Given the description of an element on the screen output the (x, y) to click on. 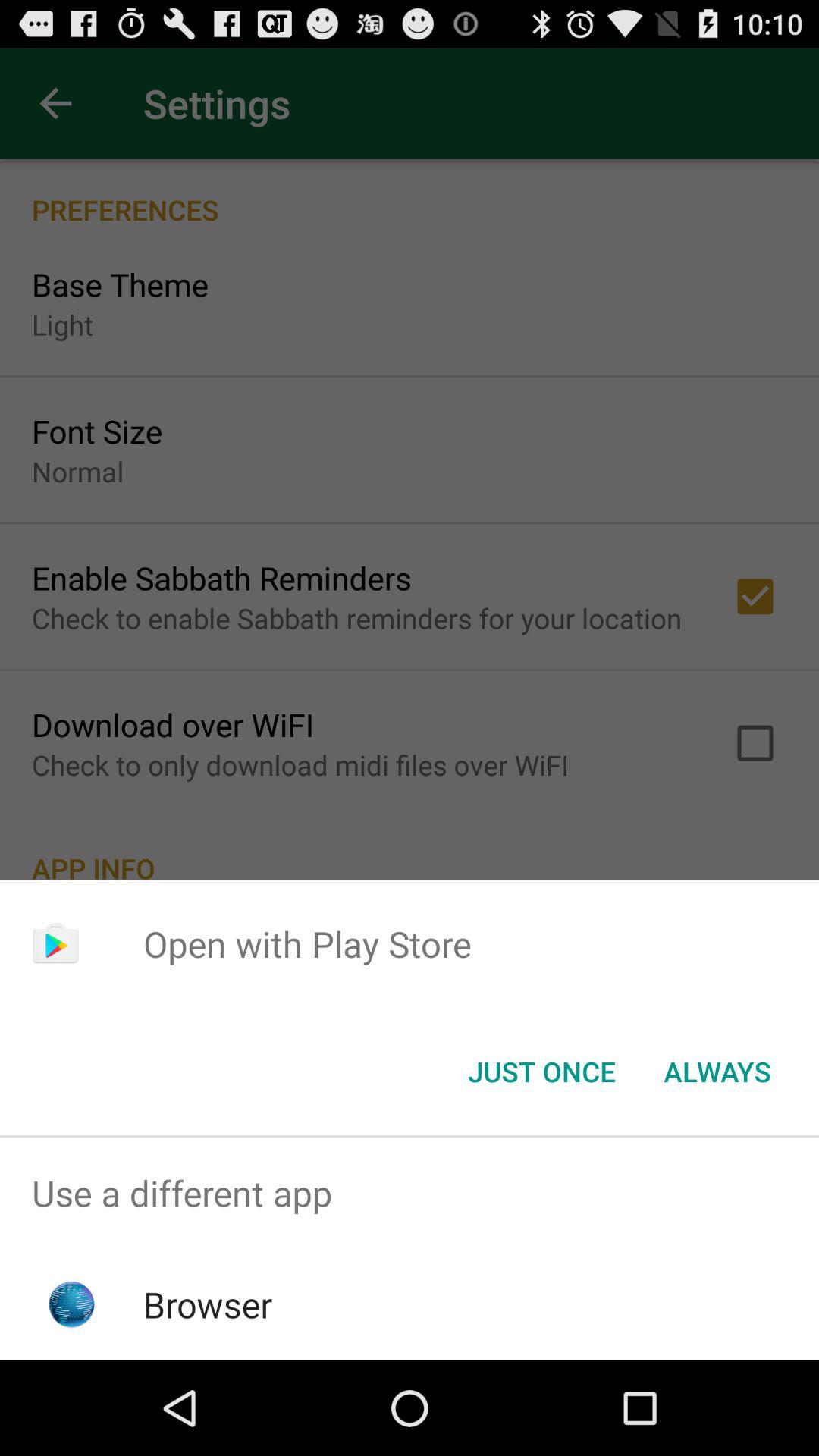
turn on the use a different item (409, 1192)
